Given the description of an element on the screen output the (x, y) to click on. 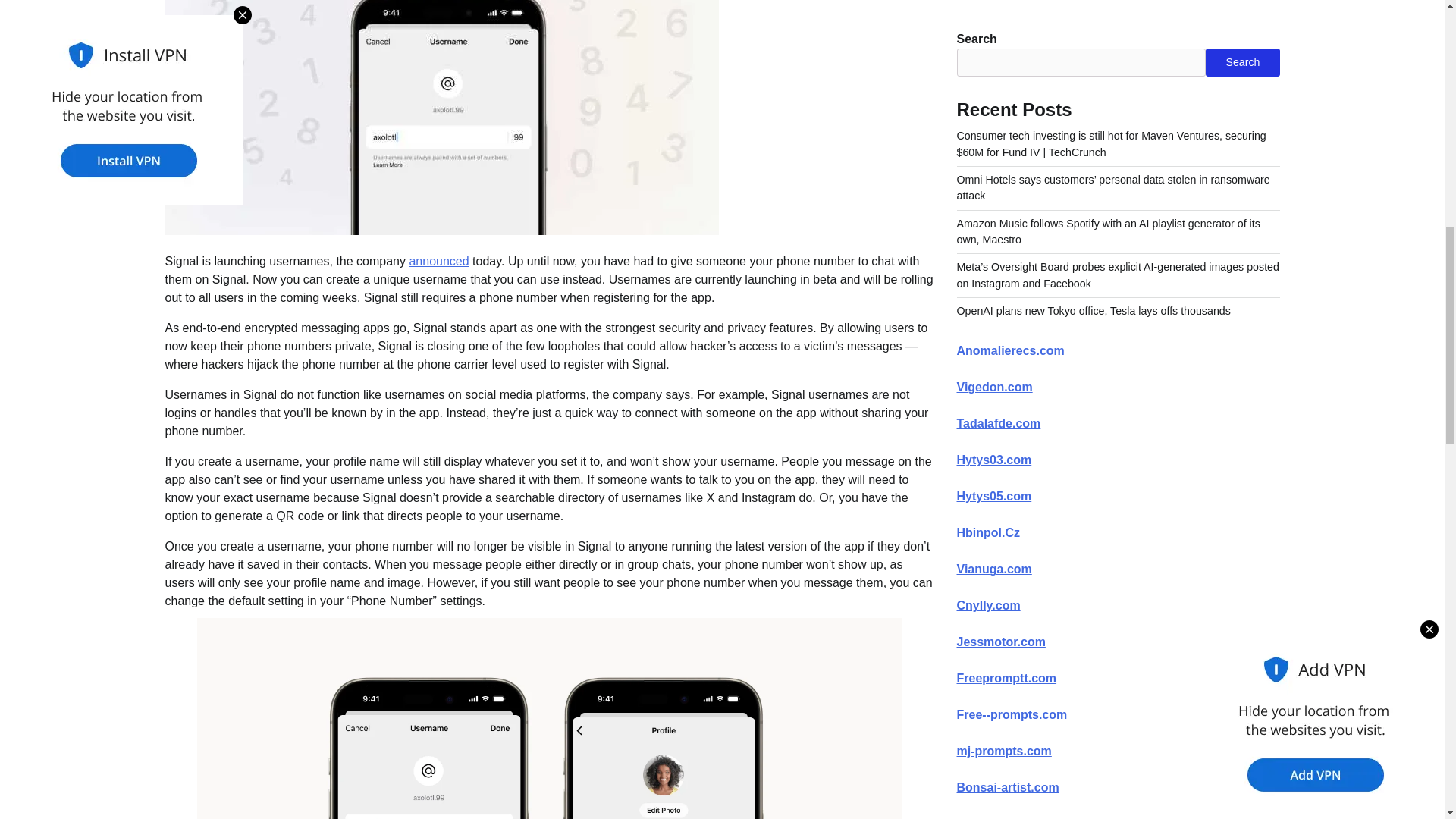
announced (438, 260)
